Given the description of an element on the screen output the (x, y) to click on. 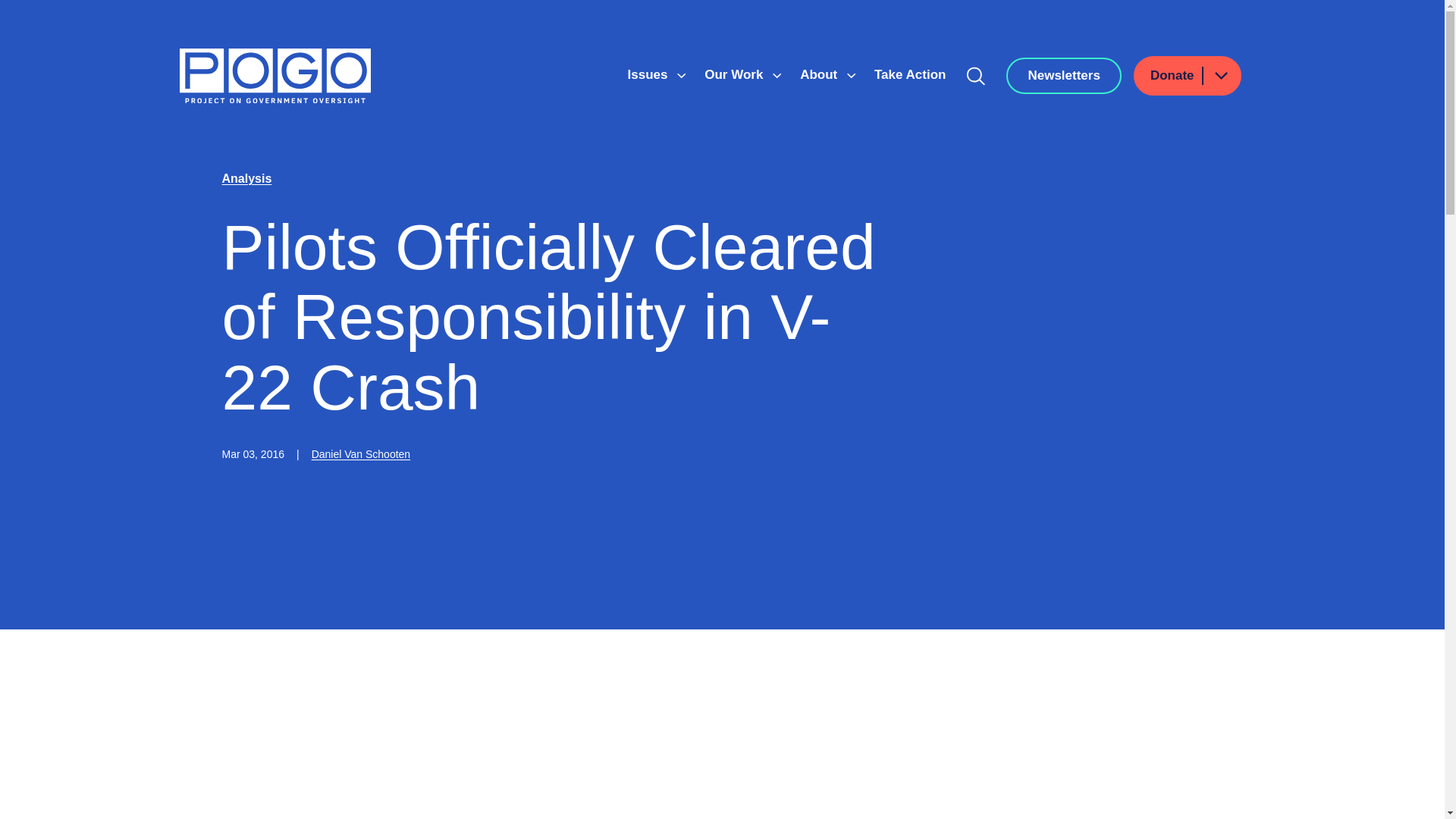
Newsletters (1063, 75)
Take Action (909, 74)
Our Work (735, 74)
Issues (649, 74)
Home (274, 75)
Donate (1187, 75)
Show submenu for Issues (681, 75)
Search (976, 75)
Show submenu for Our Work (777, 75)
Show submenu for About (851, 75)
